Given the description of an element on the screen output the (x, y) to click on. 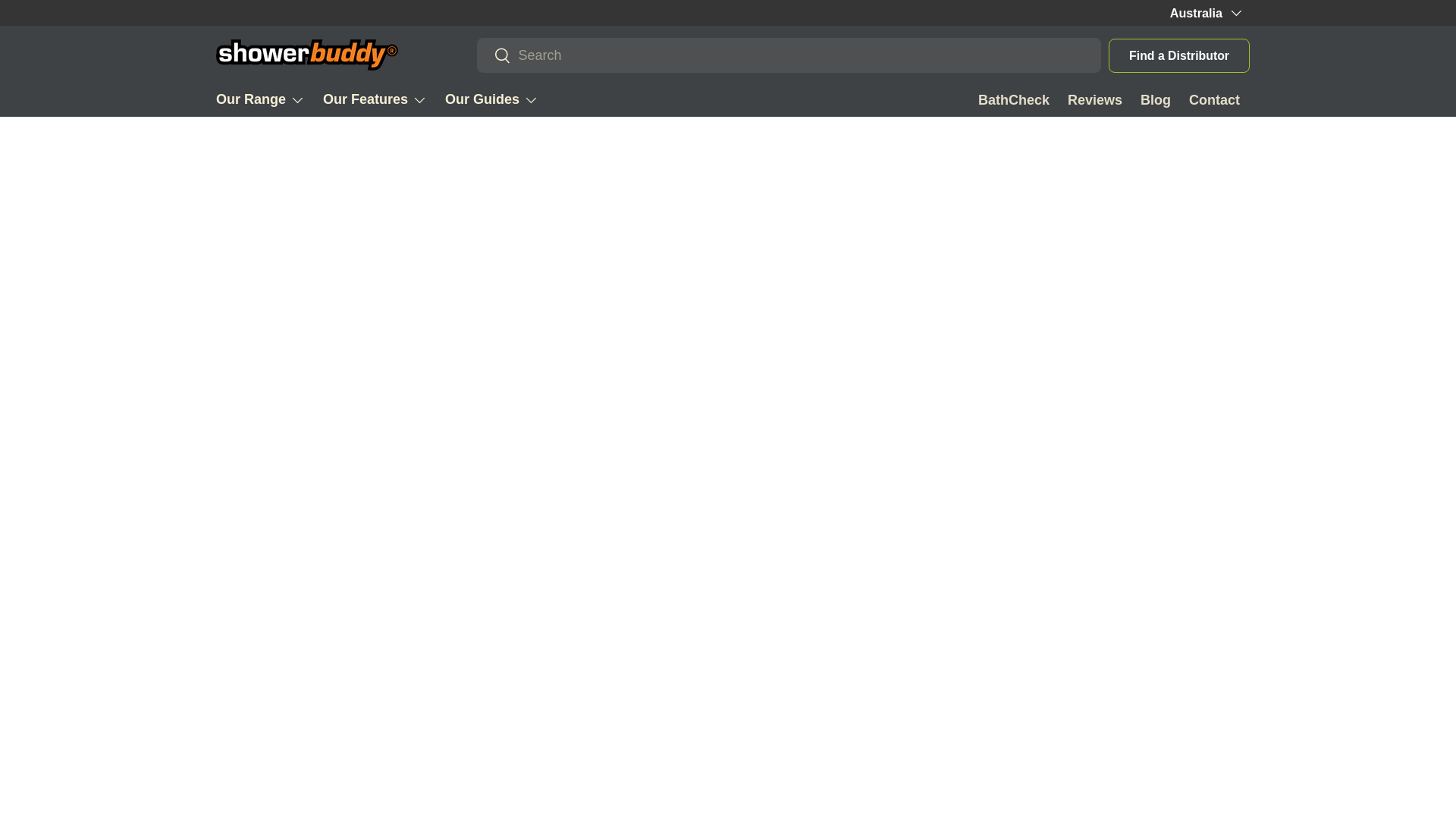
Skip to content (68, 21)
Our Range (259, 100)
Our Features (374, 100)
Find a Distributor (1178, 55)
Search (494, 56)
Our Guides (491, 100)
Australia (1205, 13)
